Given the description of an element on the screen output the (x, y) to click on. 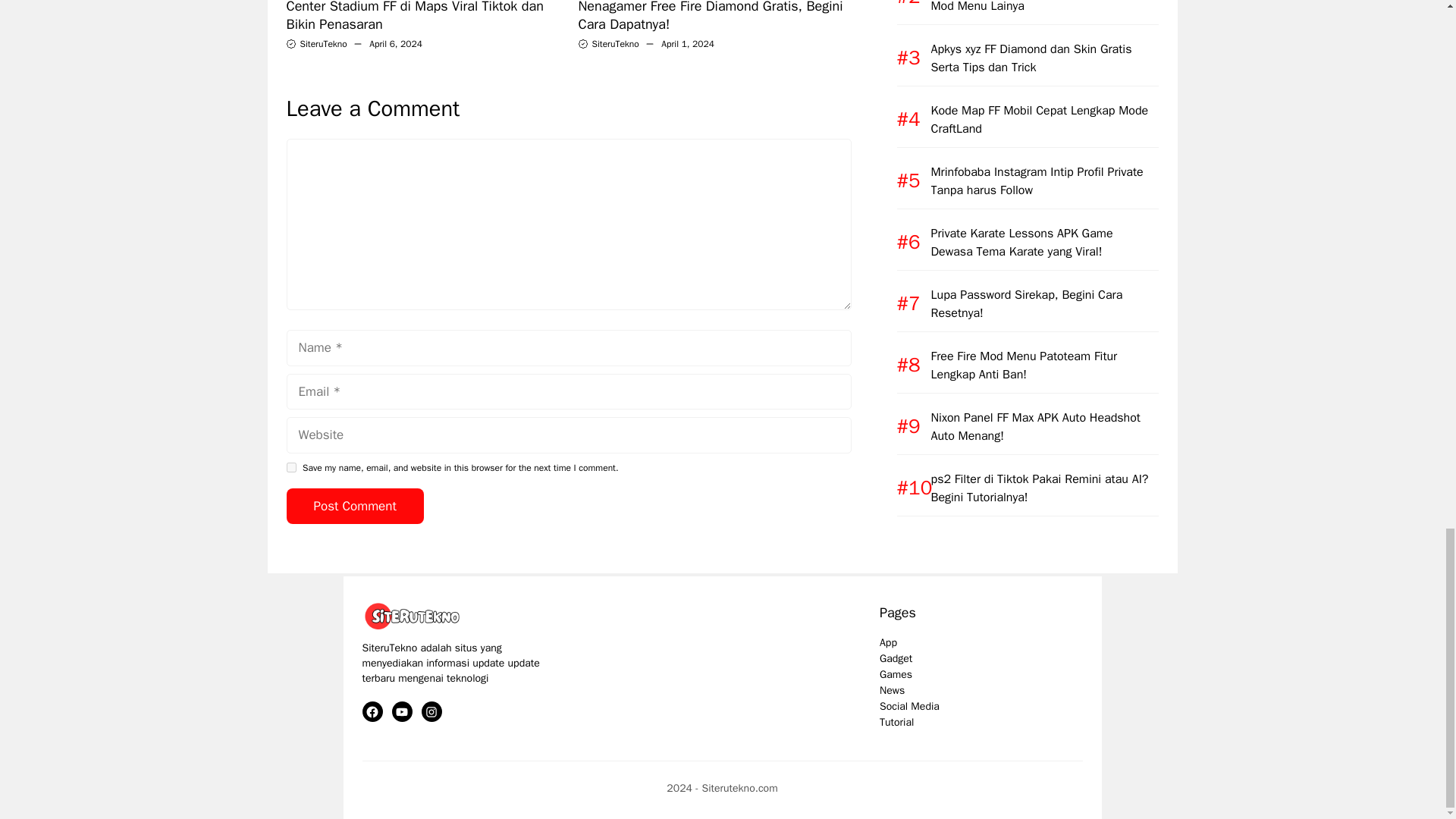
Center Stadium FF di Maps Viral Tiktok dan Bikin Penasaran (414, 16)
yes (291, 467)
SiteruTekno (323, 43)
SiteruTekno.com (415, 615)
Nenagamer Free Fire Diamond Gratis, Begini Cara Dapatnya! (710, 16)
Post Comment (354, 506)
